Given the description of an element on the screen output the (x, y) to click on. 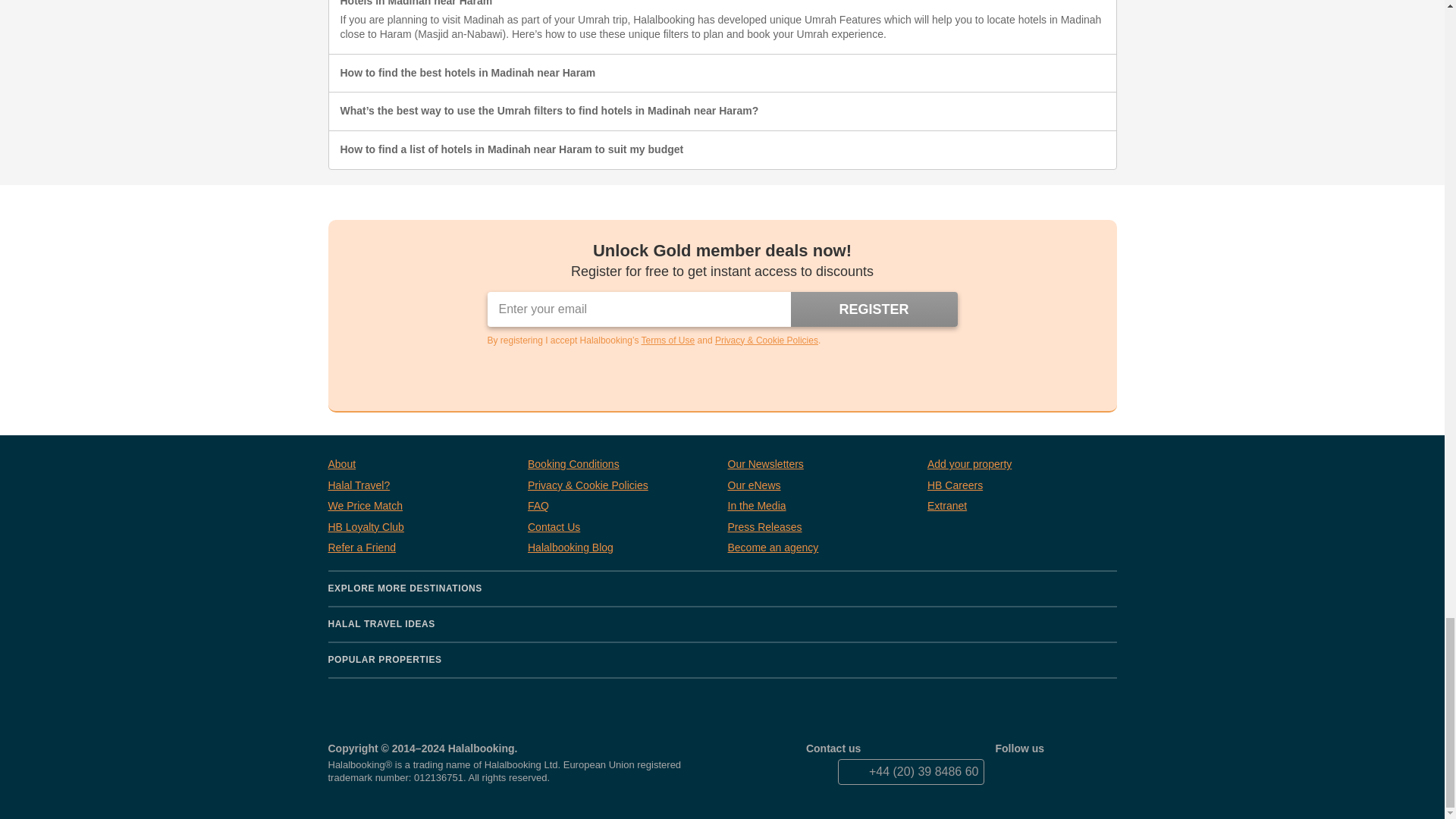
Terms of Use (668, 339)
Contact Us (553, 527)
Press Releases (765, 527)
Refer a Friend (360, 548)
Halal Travel? (358, 486)
In the Media (757, 506)
Our Newsletters (765, 464)
REGISTER (873, 308)
Extranet (946, 506)
Add your property (969, 464)
FAQ (537, 506)
Become an agency (773, 548)
Halalbooking Blog (569, 548)
We Price Match (365, 506)
About (341, 464)
